Given the description of an element on the screen output the (x, y) to click on. 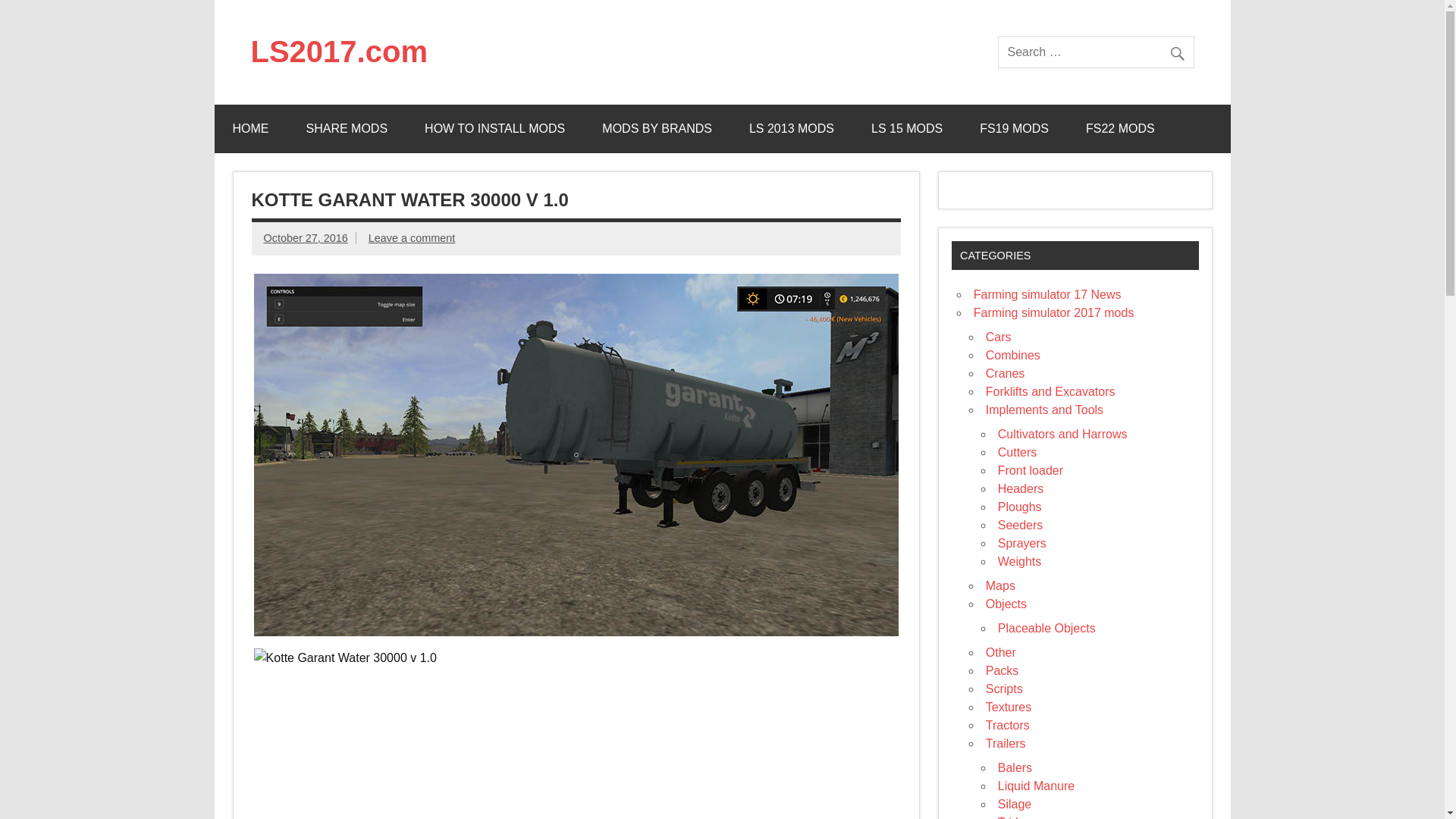
Implements and Tools (1044, 409)
Combines (1013, 354)
HOME (250, 128)
LS2017.com (338, 51)
Objects (1005, 603)
Headers (1020, 488)
Scripts (1004, 688)
HOW TO INSTALL MODS (494, 128)
Cranes (1005, 373)
LS 15 MODS (906, 128)
Farming simulator 17 News (1047, 294)
Maps (999, 585)
Packs (1002, 670)
Cars (998, 336)
Other (1000, 652)
